Given the description of an element on the screen output the (x, y) to click on. 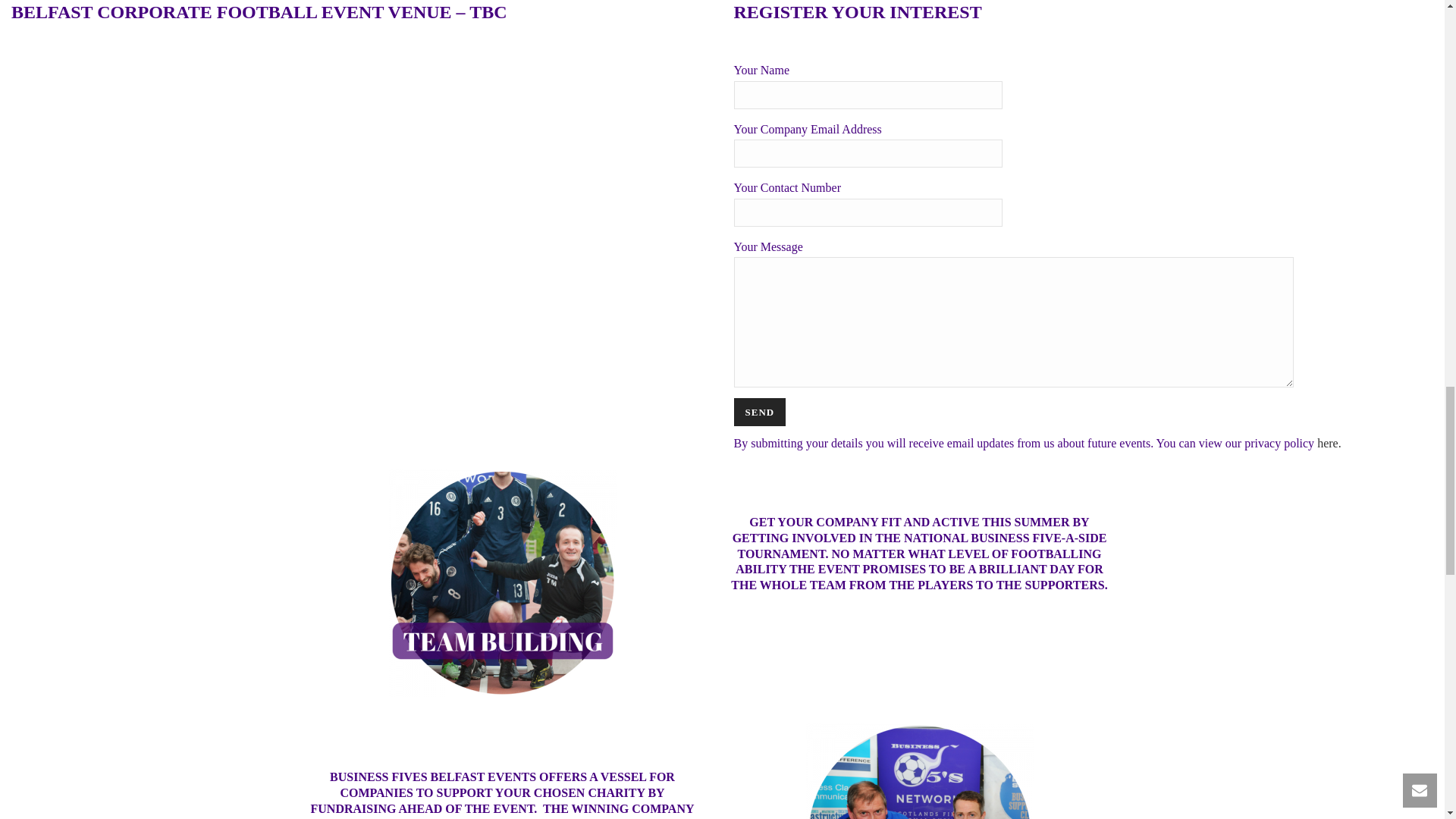
Send (759, 411)
